Given the description of an element on the screen output the (x, y) to click on. 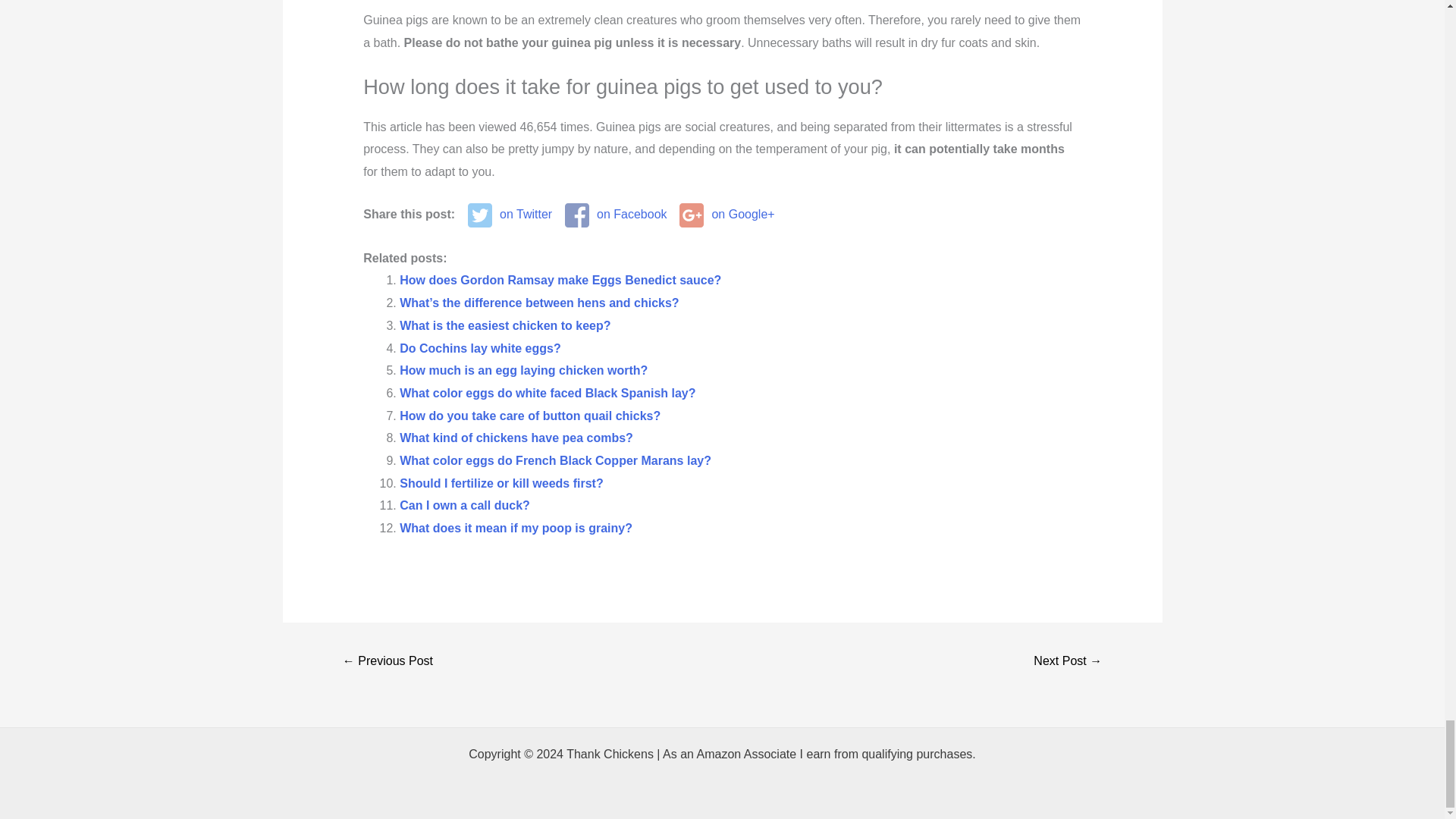
What color eggs do white faced Black Spanish lay? (546, 392)
Do Cochins lay white eggs? (479, 348)
on Twitter (510, 214)
How does Gordon Ramsay make Eggs Benedict sauce? (559, 279)
What kind of chickens have pea combs? (515, 437)
How much is an egg laying chicken worth? (522, 369)
What is the easiest chicken to keep? (504, 325)
How do you take care of button quail chicks? (529, 415)
What is the easiest chicken to keep? (504, 325)
on Facebook (615, 214)
Do Cochins lay white eggs? (479, 348)
What color eggs do white faced Black Spanish lay? (546, 392)
How much is an egg laying chicken worth? (522, 369)
How does Gordon Ramsay make Eggs Benedict sauce? (559, 279)
